Given the description of an element on the screen output the (x, y) to click on. 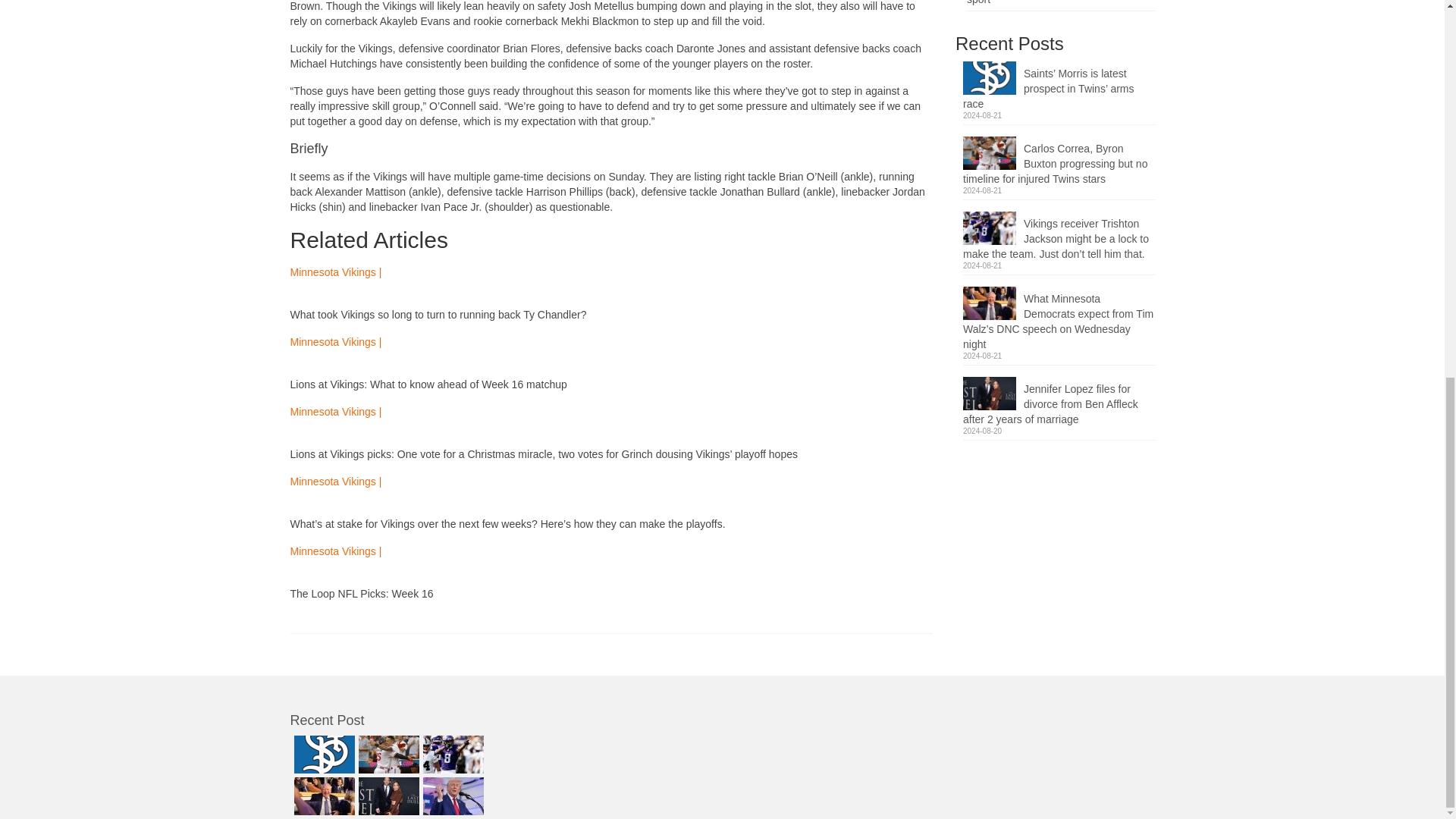
sport (978, 2)
